Given the description of an element on the screen output the (x, y) to click on. 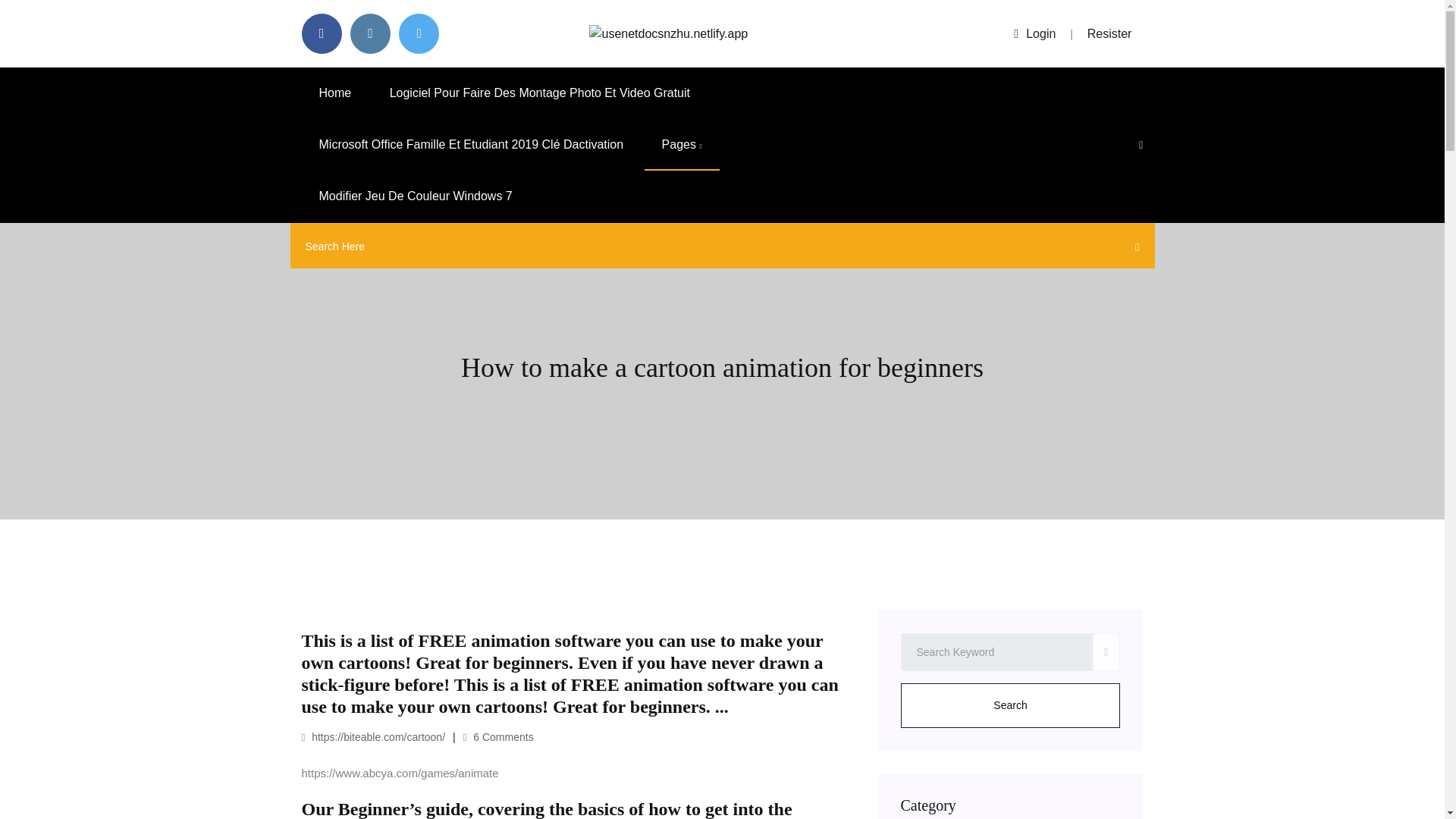
6 Comments (498, 736)
Resister (1109, 33)
Pages (682, 144)
Close Search (1132, 249)
Login (1034, 33)
Logiciel Pour Faire Des Montage Photo Et Video Gratuit (539, 92)
Home (335, 92)
Modifier Jeu De Couleur Windows 7 (415, 195)
